Given the description of an element on the screen output the (x, y) to click on. 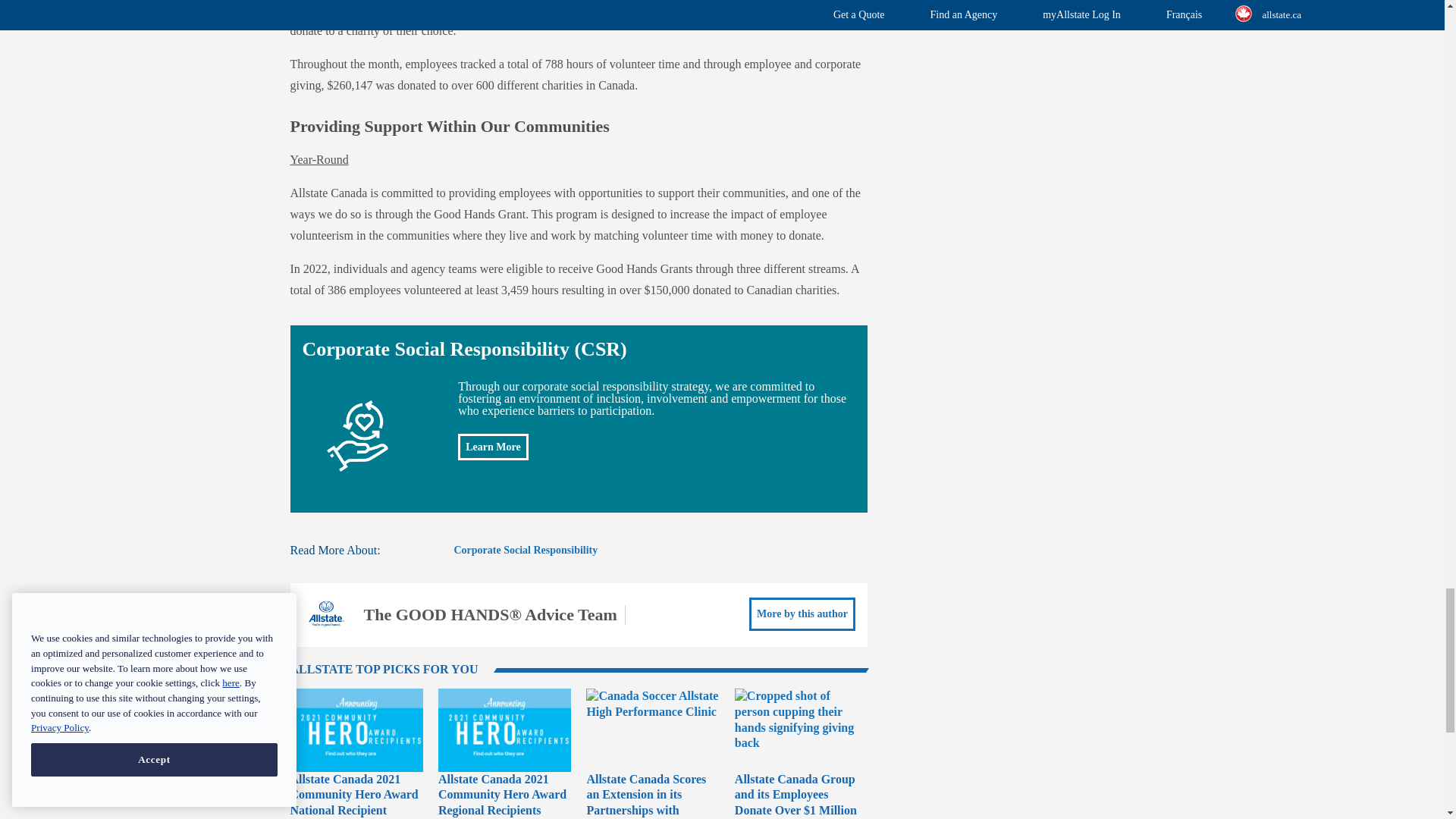
More by this author (802, 614)
Learn More  (492, 447)
Corporate Social Responsibility (524, 550)
Allstate Canada 2021 Community Hero Award National Recipient (353, 794)
More by this author (802, 614)
Learn More (492, 447)
